Given the description of an element on the screen output the (x, y) to click on. 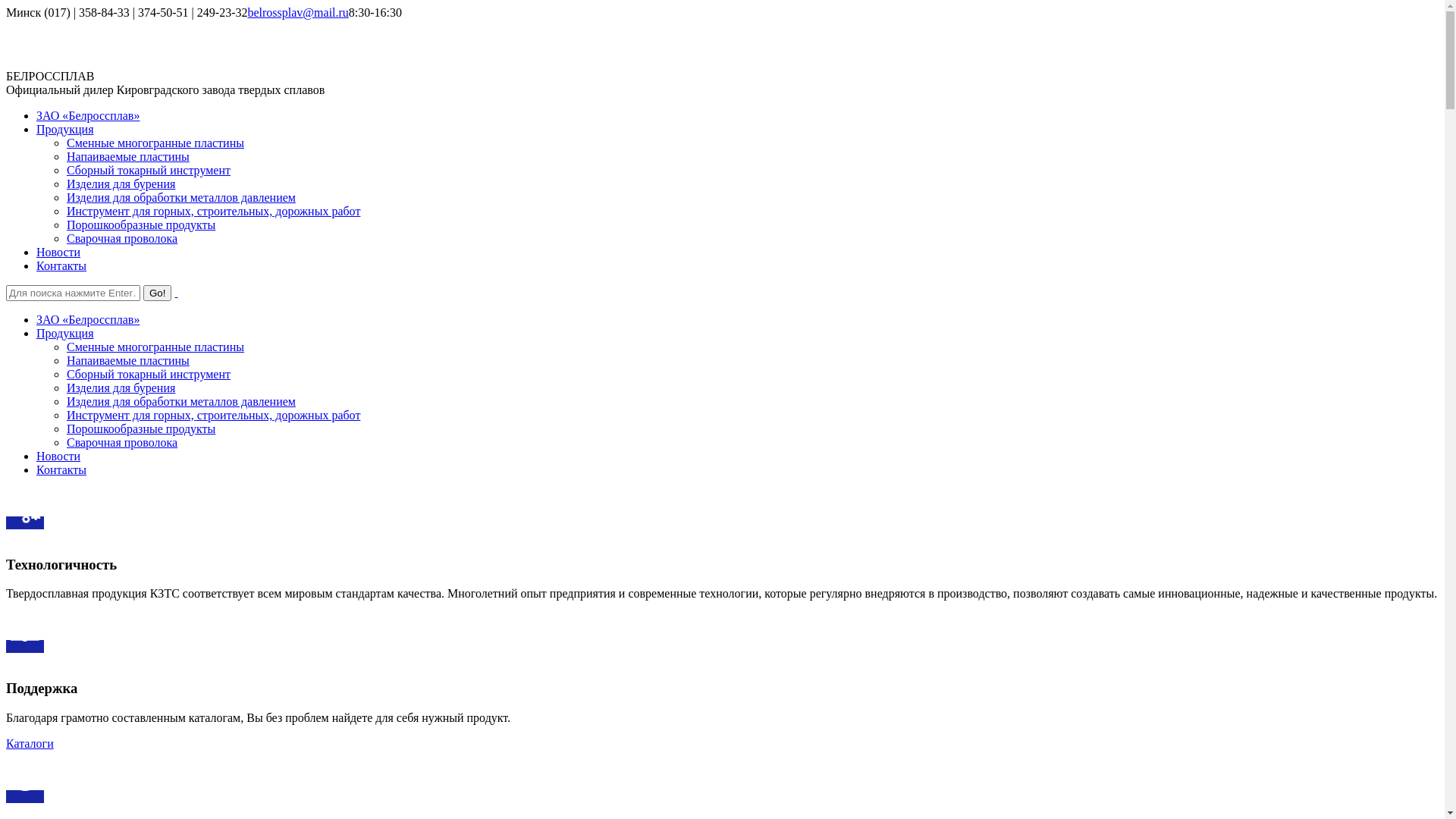
belrossplav@mail.ru Element type: text (297, 12)
  Element type: text (175, 291)
Go! Element type: text (157, 293)
Skip to content Element type: text (5, 5)
